Given the description of an element on the screen output the (x, y) to click on. 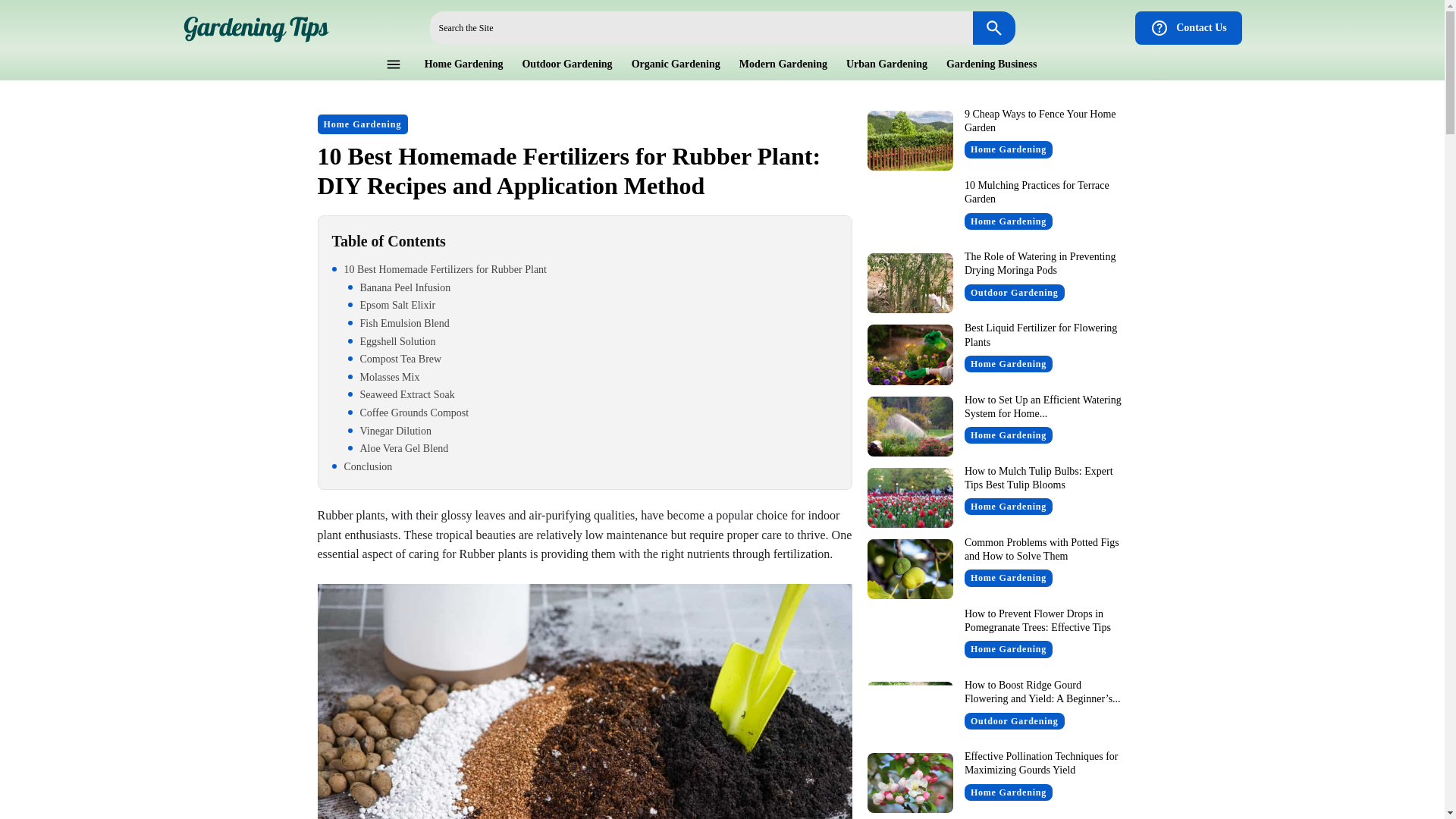
10 Mulching Practices for Terrace Garden (1036, 191)
Best Liquid Fertilizer for Flowering Plants (1039, 334)
9 Cheap Ways to Fence Your Home Garden (1039, 120)
9 Cheap Ways to Fence Your Home Garden (910, 140)
The Role of Watering in Preventing Drying Moringa Pods (1039, 263)
Best Liquid Fertilizer for Flowering Plants (910, 354)
Contact Us (1188, 28)
10 Mulching Practices for Terrace Garden (910, 211)
The Role of Watering in Preventing Drying Moringa Pods (910, 282)
Contact Us (1188, 28)
